Given the description of an element on the screen output the (x, y) to click on. 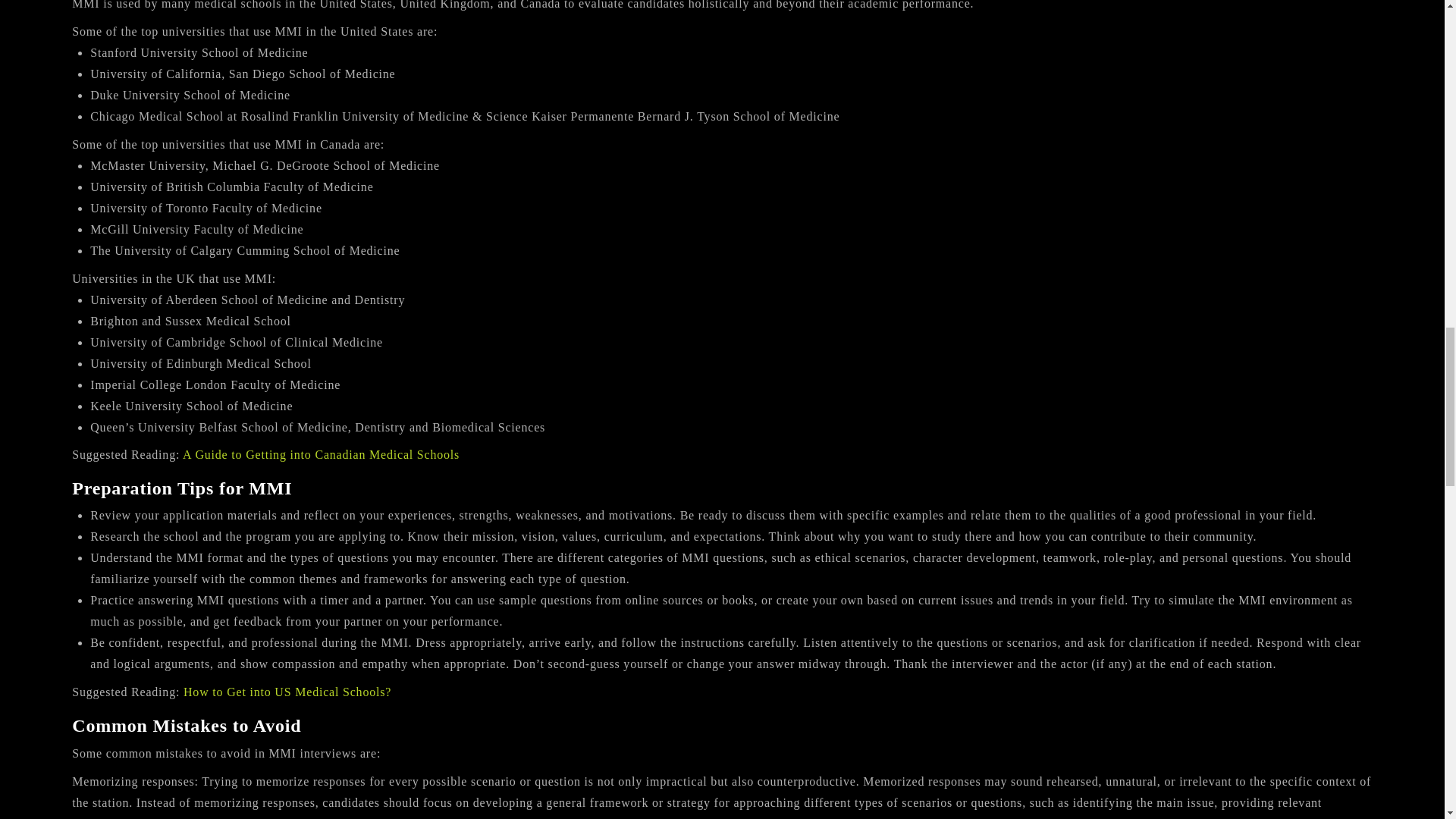
How to Get into US Medical Schools? (287, 691)
A Guide to Getting into Canadian Medical Schools (321, 454)
